Given the description of an element on the screen output the (x, y) to click on. 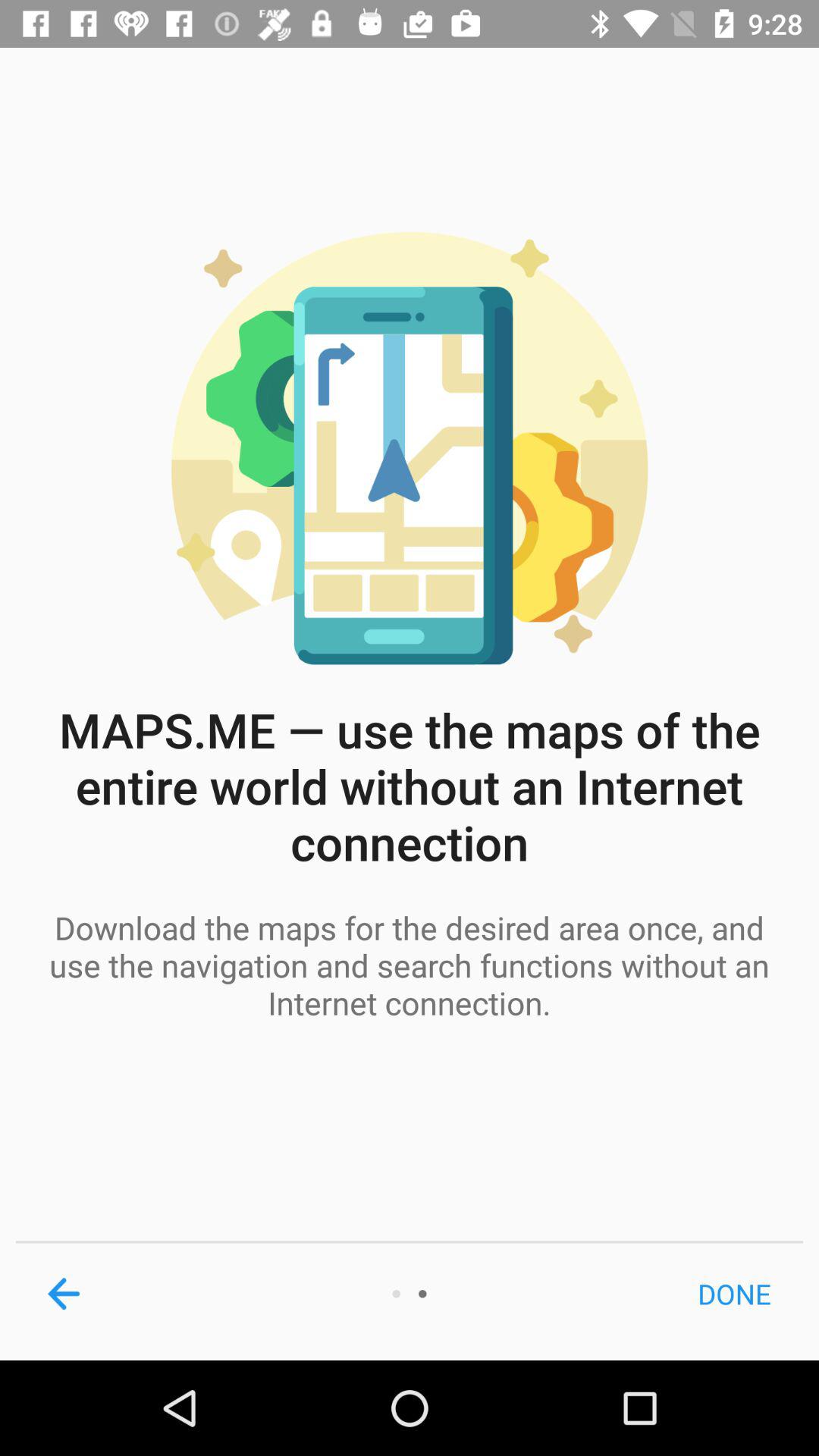
go back (63, 1293)
